Given the description of an element on the screen output the (x, y) to click on. 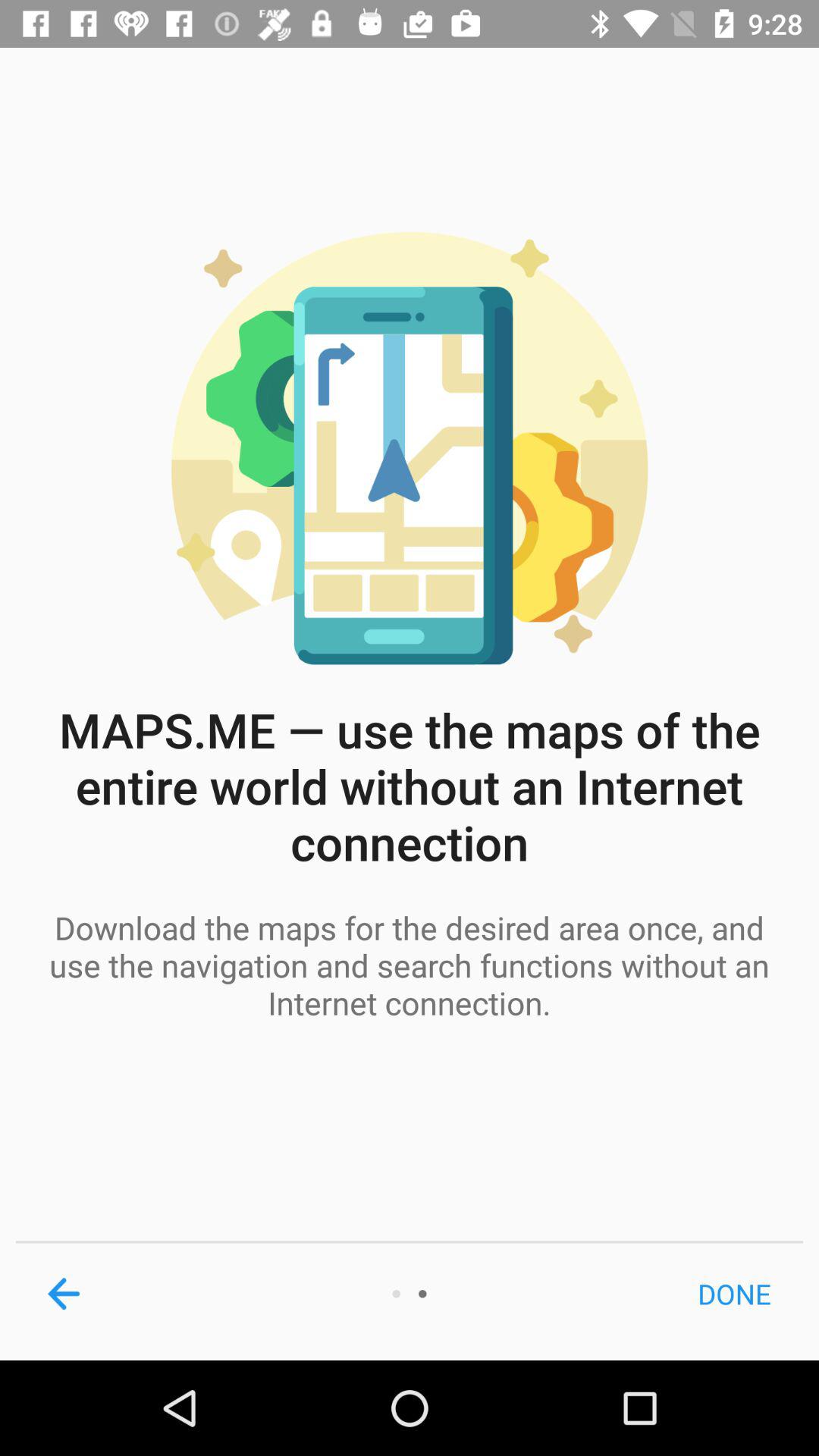
go back (63, 1293)
